Given the description of an element on the screen output the (x, y) to click on. 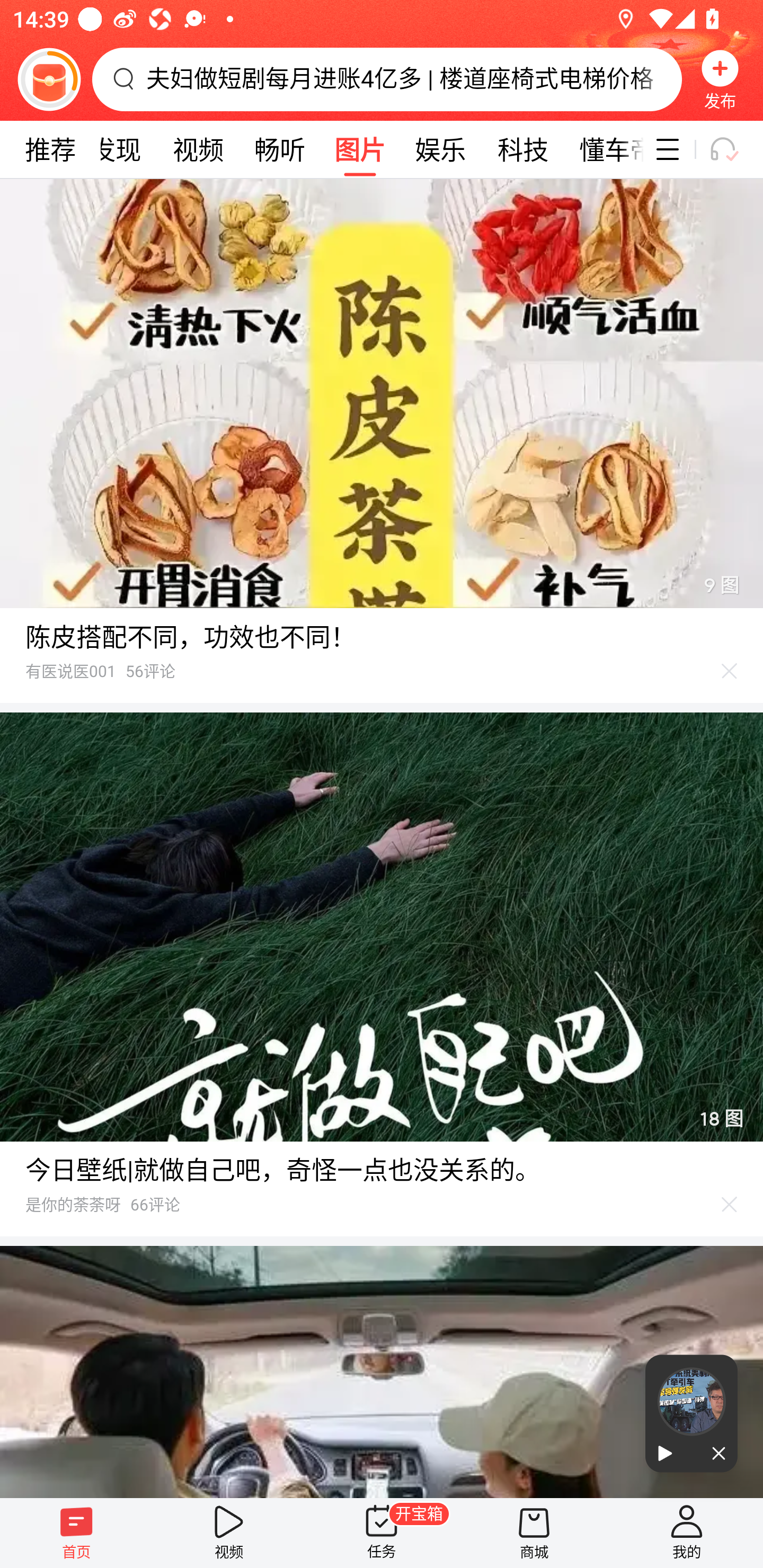
阅读赚金币 (48, 79)
发布 发布，按钮 (720, 78)
推荐 (49, 149)
发现 (115, 149)
视频 (198, 149)
畅听 (279, 149)
图片 (359, 149)
娱乐 (440, 149)
科技 (522, 149)
懂车帝 (603, 149)
听一听开关 (732, 149)
不感兴趣 (729, 670)
不感兴趣 (729, 1204)
当前进度 0% (691, 1401)
播放 (668, 1454)
关闭 (714, 1454)
首页 (76, 1532)
视频 (228, 1532)
任务 开宝箱 (381, 1532)
商城 (533, 1532)
我的 (686, 1532)
